Given the description of an element on the screen output the (x, y) to click on. 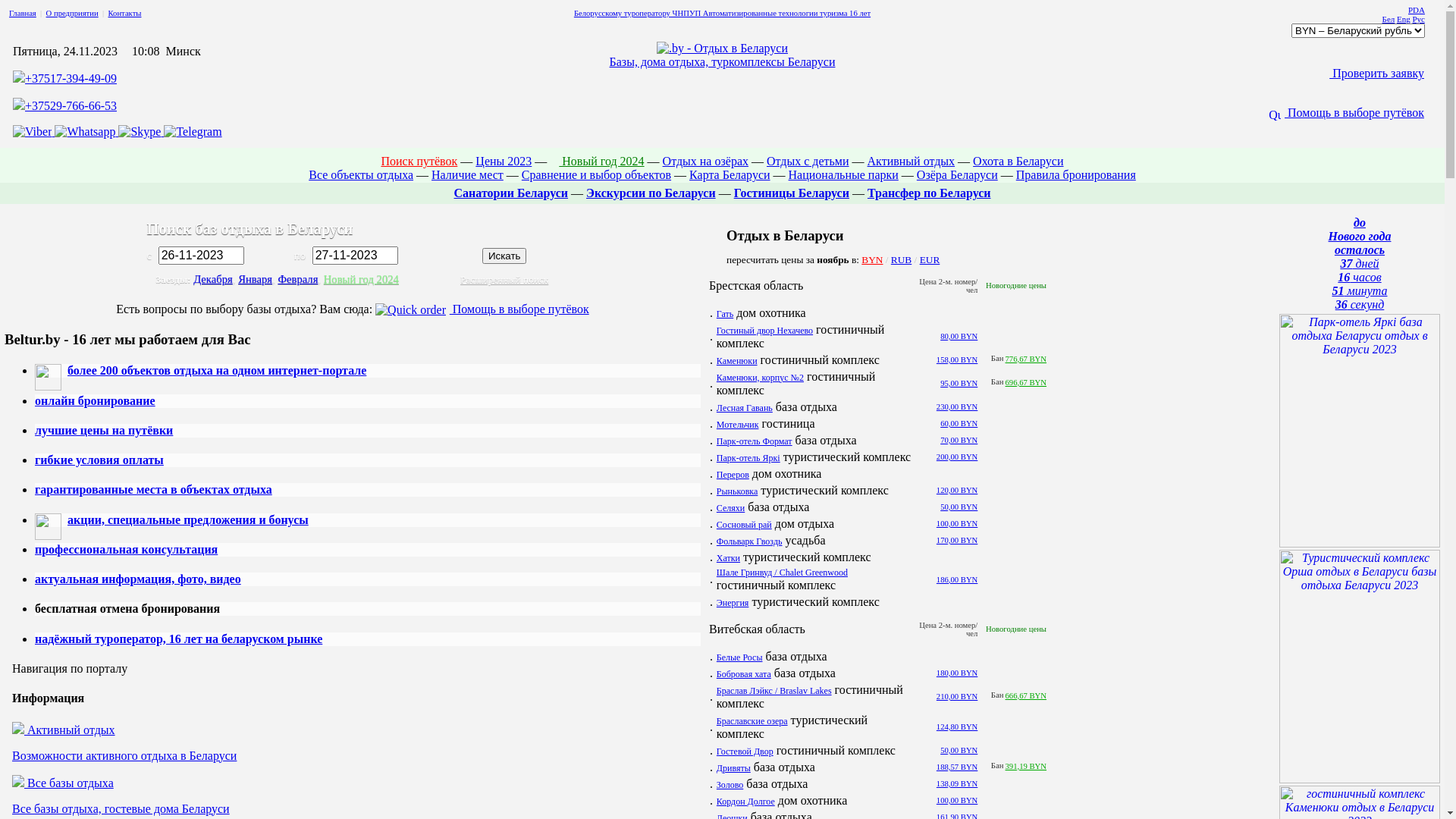
RUB Element type: text (901, 258)
100,00 BYN Element type: text (956, 523)
100,00 BYN Element type: text (956, 800)
70,00 BYN Element type: text (958, 440)
776,67 BYN Element type: text (1025, 358)
158,00 BYN Element type: text (956, 359)
170,00 BYN Element type: text (956, 540)
PDA Element type: text (1416, 9)
EUR Element type: text (929, 258)
666,67 BYN Element type: text (1025, 695)
Eng Element type: text (1403, 18)
120,00 BYN Element type: text (956, 490)
50,00 BYN Element type: text (958, 750)
+37517-394-49-09 Element type: text (70, 78)
186,00 BYN Element type: text (956, 578)
696,67 BYN Element type: text (1025, 382)
391,19 BYN Element type: text (1025, 766)
95,00 BYN Element type: text (958, 383)
210,00 BYN Element type: text (956, 696)
180,00 BYN Element type: text (956, 672)
188,57 BYN Element type: text (956, 766)
80,00 BYN Element type: text (958, 336)
50,00 BYN Element type: text (958, 506)
BYN Element type: text (871, 258)
200,00 BYN Element type: text (956, 456)
60,00 BYN Element type: text (958, 423)
124,80 BYN Element type: text (956, 726)
230,00 BYN Element type: text (956, 406)
138,09 BYN Element type: text (956, 783)
+37529-766-66-53 Element type: text (70, 105)
